Given the description of an element on the screen output the (x, y) to click on. 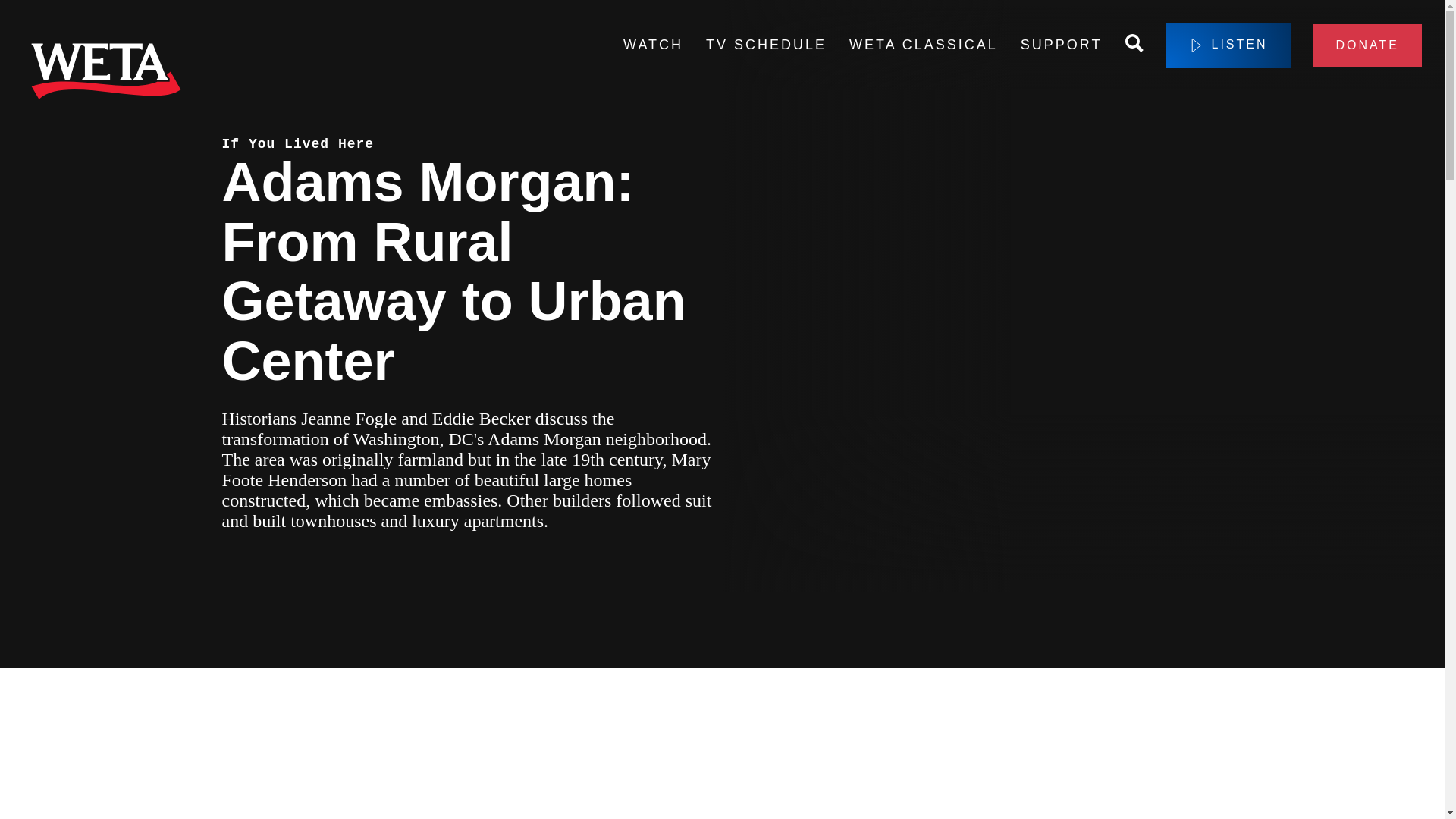
LISTEN (1228, 44)
If You Lived Here (297, 143)
Home (106, 73)
WETA CLASSICAL (922, 45)
DONATE (1367, 45)
TV SCHEDULE (766, 45)
SUPPORT (1061, 45)
WATCH (652, 45)
